Given the description of an element on the screen output the (x, y) to click on. 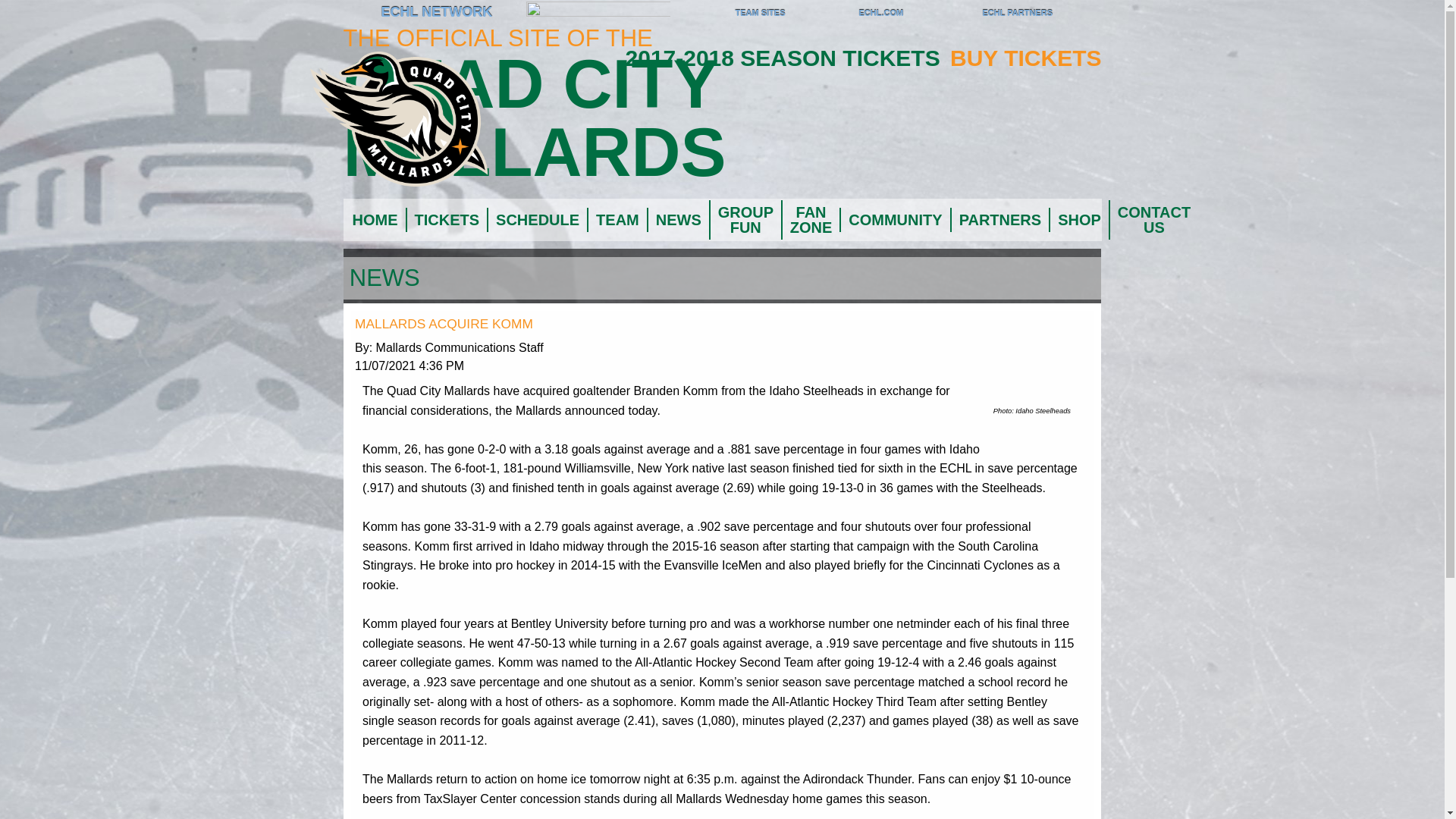
SCHEDULE (536, 219)
GROUP FUN (744, 219)
HOME (373, 219)
BUY TICKETS (1025, 57)
TEAM (616, 219)
Visit the Official ECHL website (362, 14)
2017-2018 SEASON TICKETS (786, 57)
TICKETS (445, 219)
ECHL (362, 14)
FAN ZONE (810, 219)
NEWS (677, 219)
